Given the description of an element on the screen output the (x, y) to click on. 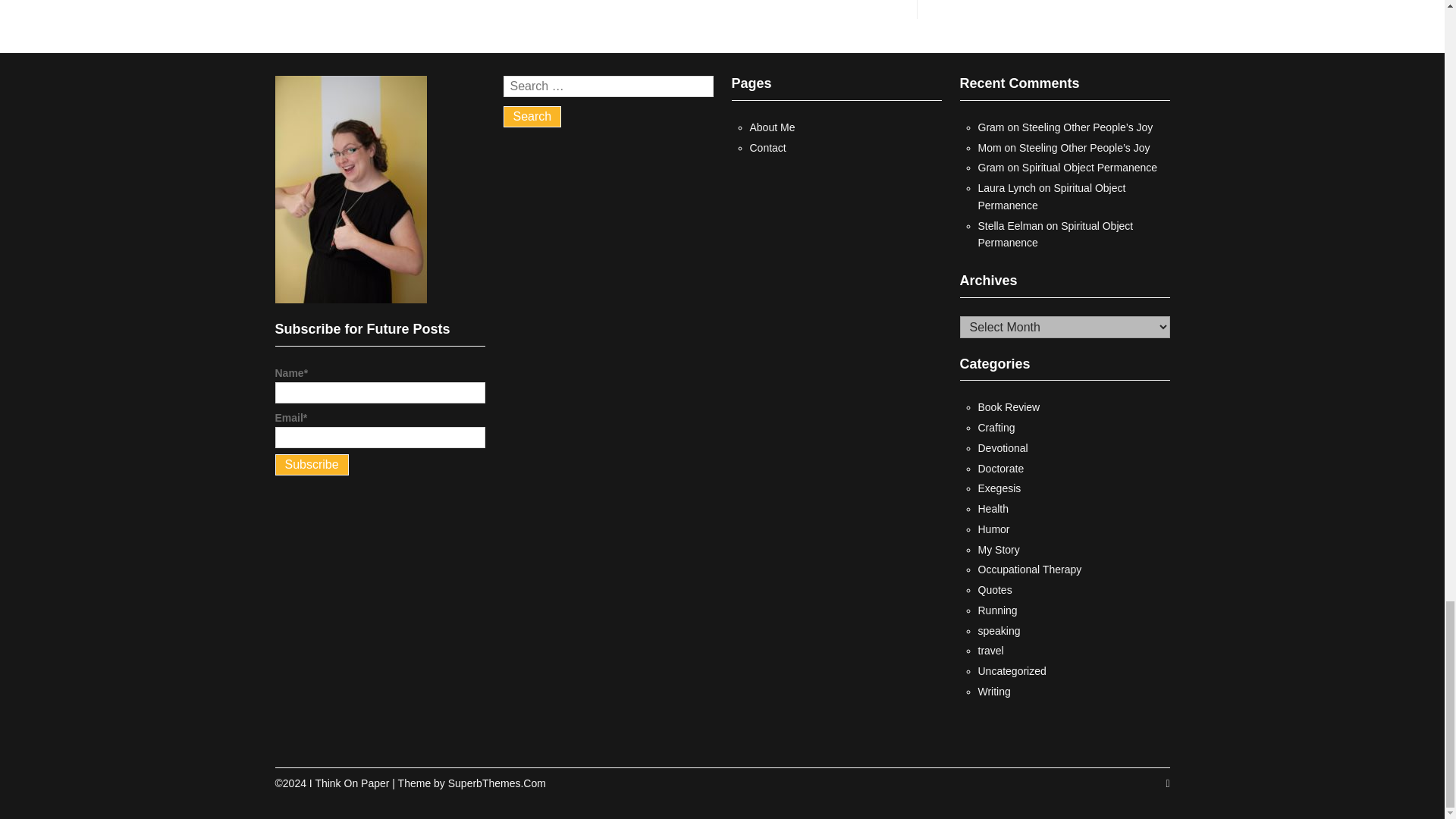
Search (532, 116)
Search (532, 116)
Subscribe (311, 464)
